Given the description of an element on the screen output the (x, y) to click on. 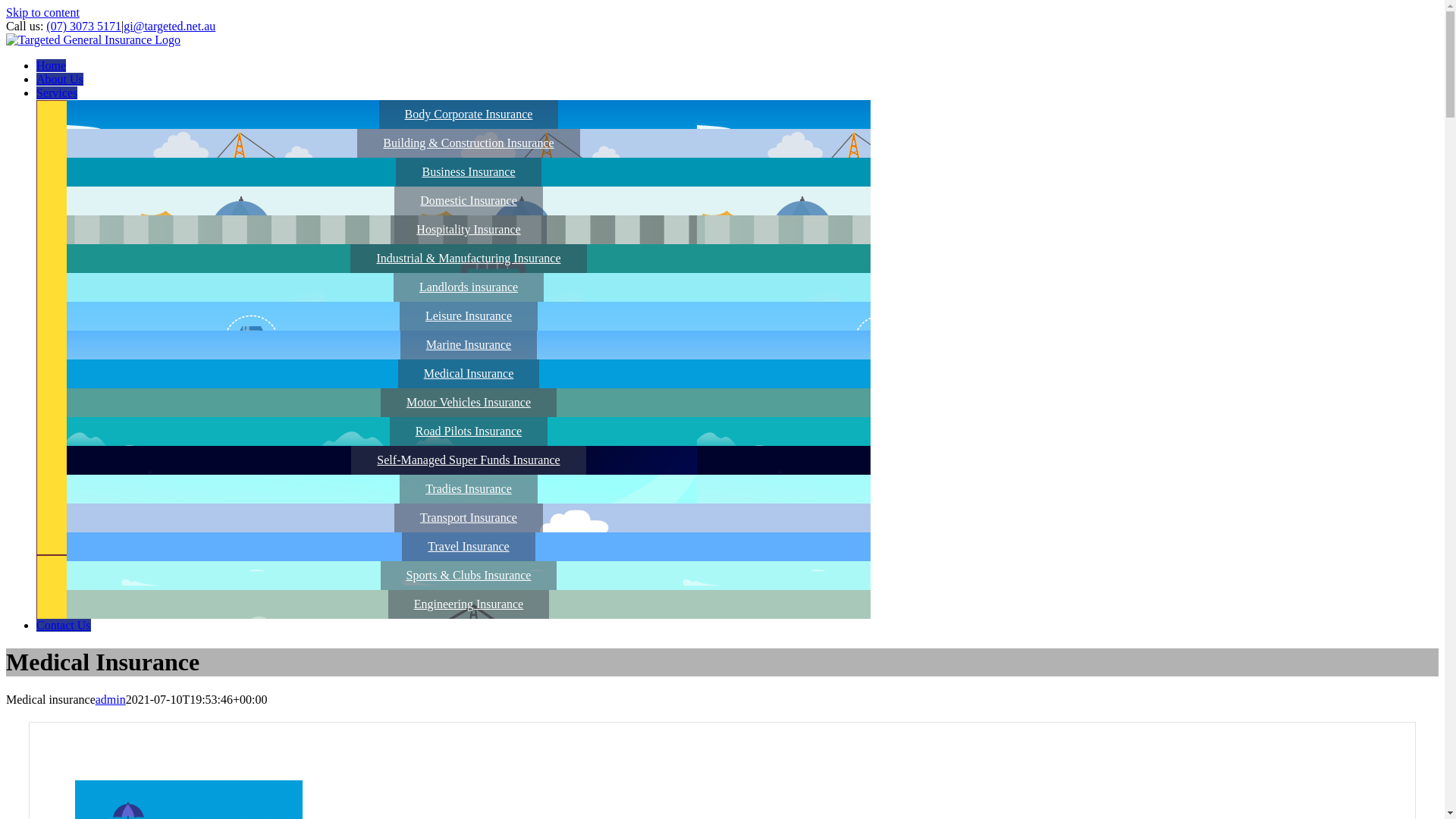
Marine Insurance Element type: text (468, 344)
About Us Element type: text (59, 78)
Contact Us Element type: text (63, 624)
Landlords insurance Element type: text (468, 286)
Body Corporate Insurance Element type: text (468, 113)
Self-Managed Super Funds Insurance Element type: text (467, 459)
Skip to content Element type: text (42, 12)
Road Pilots Insurance Element type: text (468, 430)
Motor Vehicles Insurance Element type: text (468, 401)
Services Element type: text (56, 92)
Travel Insurance Element type: text (467, 545)
Industrial & Manufacturing Insurance Element type: text (468, 257)
Engineering Insurance Element type: text (468, 603)
Medical Insurance Element type: text (468, 373)
Sports & Clubs Insurance Element type: text (468, 574)
Domestic Insurance Element type: text (468, 200)
Leisure Insurance Element type: text (468, 315)
Building & Construction Insurance Element type: text (467, 142)
Hospitality Insurance Element type: text (468, 228)
Business Insurance Element type: text (467, 171)
admin Element type: text (110, 699)
Home Element type: text (50, 65)
(07) 3073 5171 Element type: text (83, 25)
Tradies Insurance Element type: text (468, 488)
gi@targeted.net.au Element type: text (169, 25)
Transport Insurance Element type: text (468, 517)
